Given the description of an element on the screen output the (x, y) to click on. 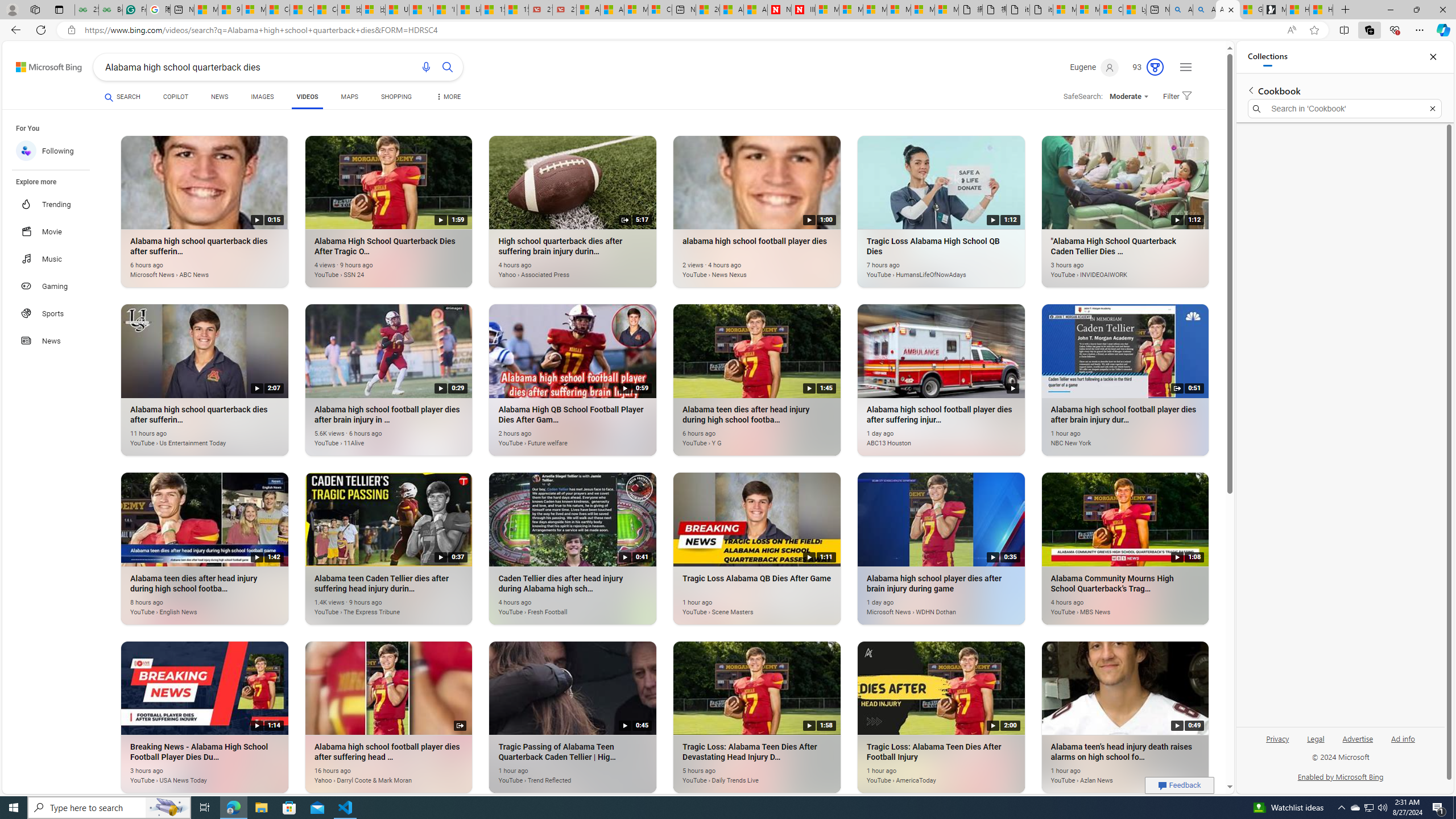
MAPS (349, 96)
Consumer Health Data Privacy Policy (1111, 9)
Eugene (1094, 67)
